Given the description of an element on the screen output the (x, y) to click on. 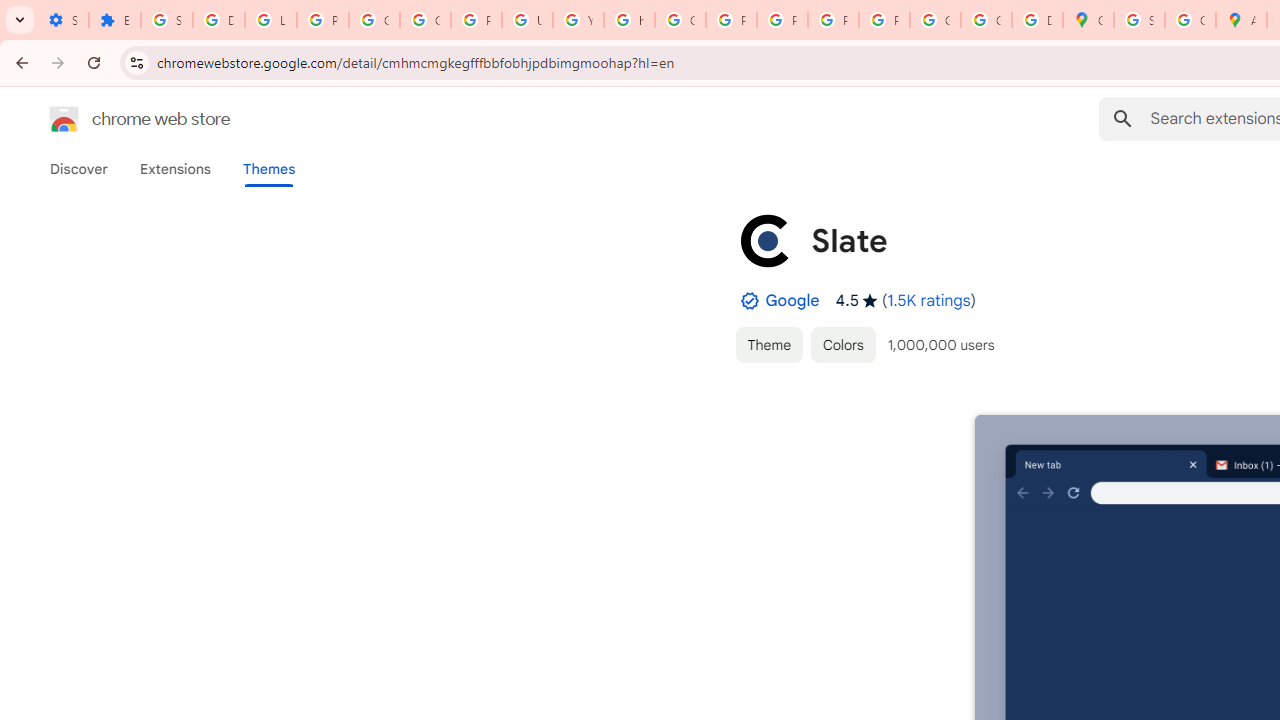
Google Account Help (374, 20)
Google Maps (1087, 20)
Delete photos & videos - Computer - Google Photos Help (218, 20)
https://scholar.google.com/ (629, 20)
Discover (79, 169)
Themes (269, 169)
Extensions (174, 169)
By Established Publisher Badge (749, 301)
